Given the description of an element on the screen output the (x, y) to click on. 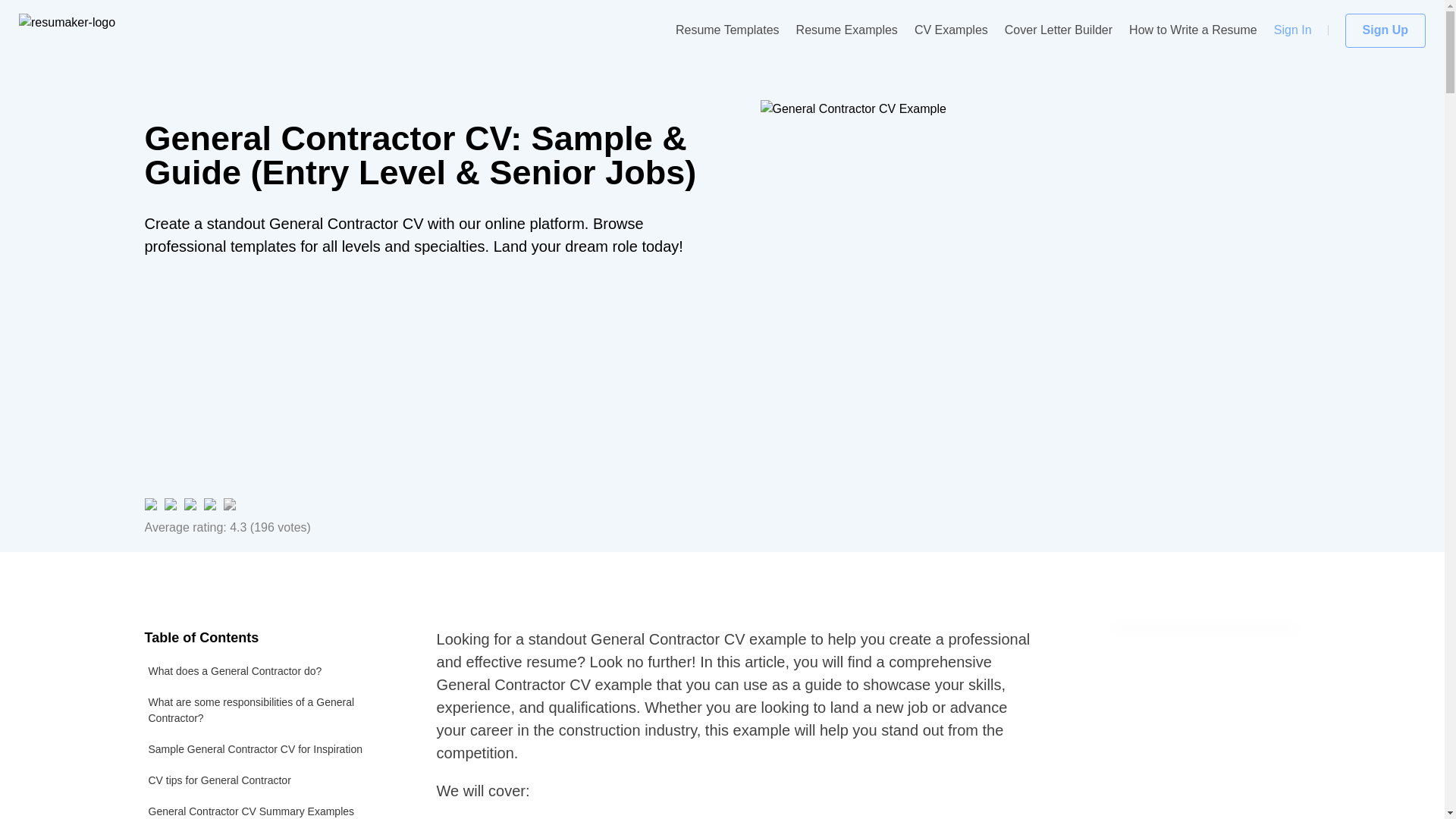
General Contractor CV Summary Examples (270, 807)
Cover Letter Builder (1058, 30)
CV Examples (951, 30)
Sample General Contractor CV for Inspiration (270, 748)
Resume Templates (726, 30)
What are some responsibilities of a General Contractor? (270, 710)
How to Write a Resume (1193, 30)
CV tips for General Contractor (270, 780)
Resume Examples (847, 30)
What does a General Contractor do? (270, 671)
